Given the description of an element on the screen output the (x, y) to click on. 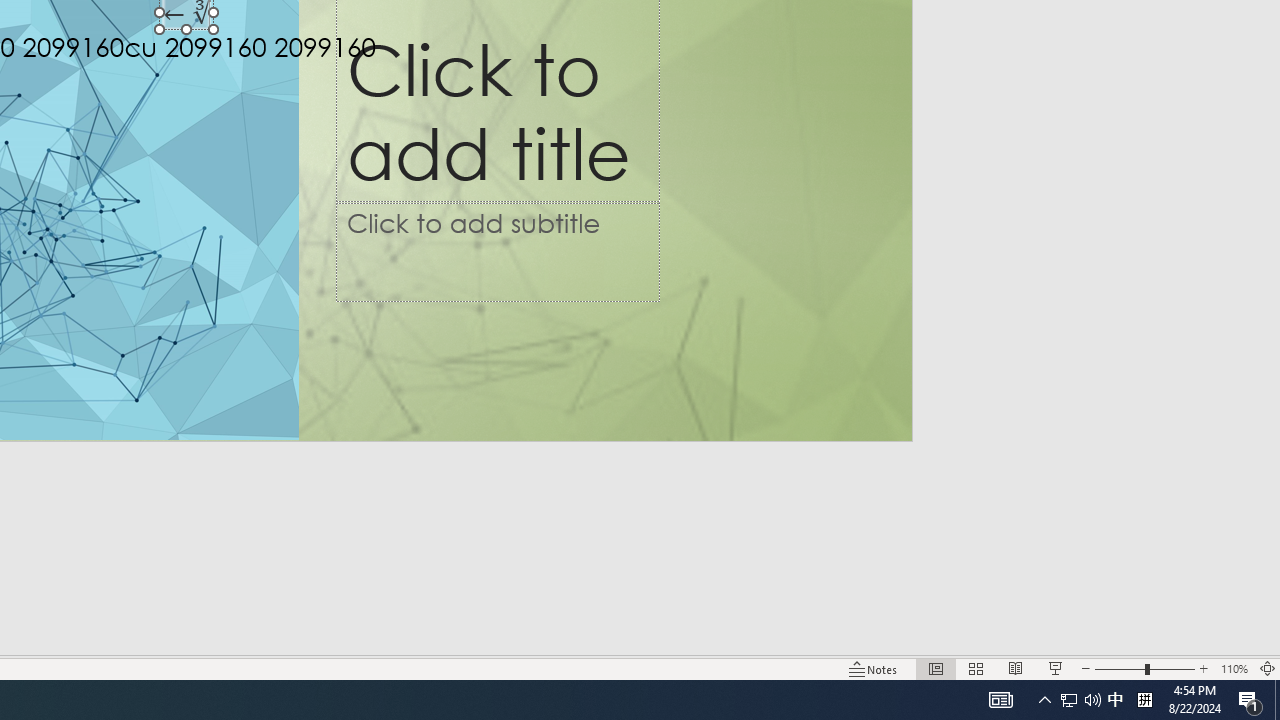
Zoom 110% (1234, 668)
